Given the description of an element on the screen output the (x, y) to click on. 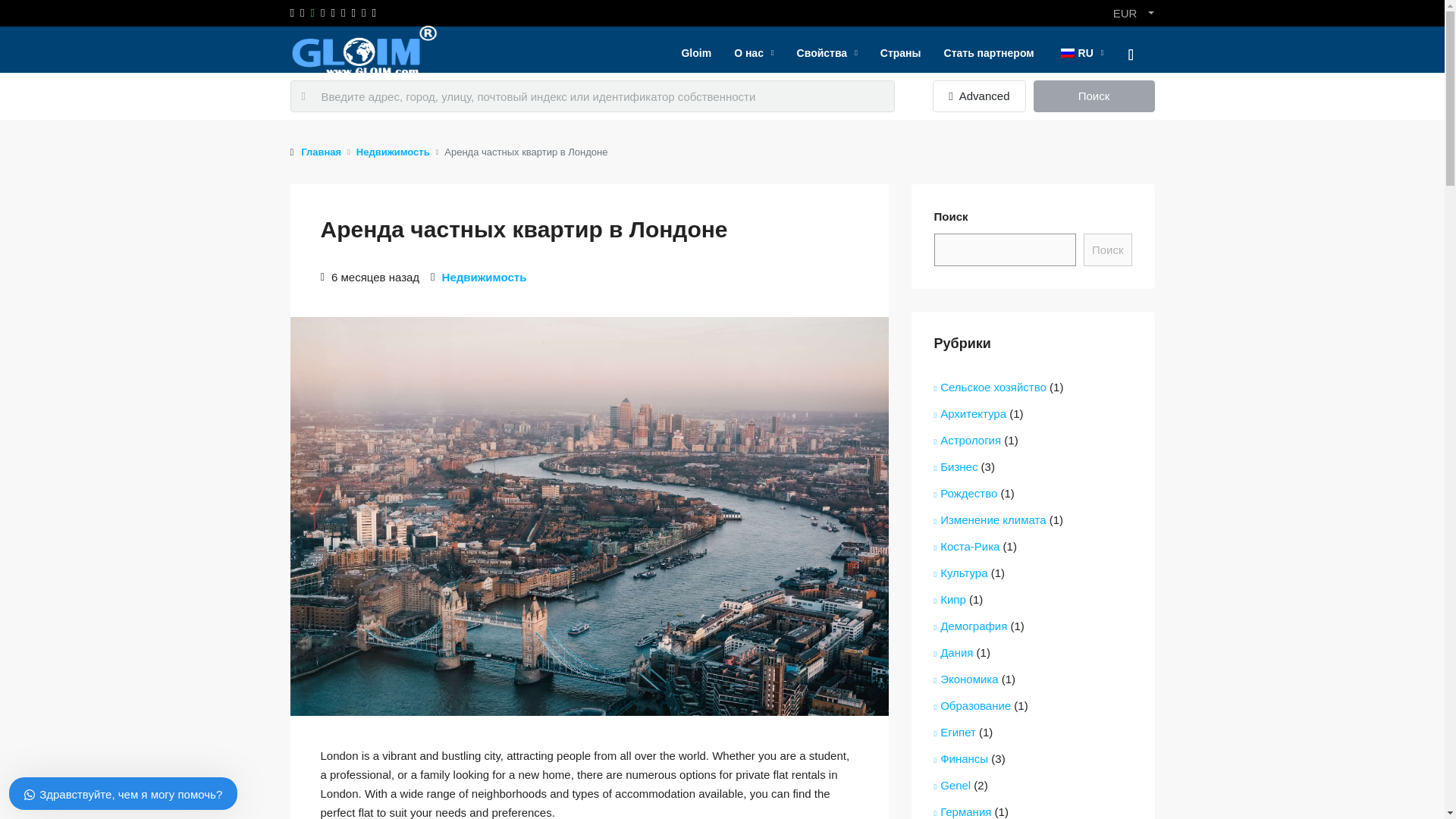
Gloim (695, 53)
Russian (1067, 52)
EUR (1133, 13)
